Given the description of an element on the screen output the (x, y) to click on. 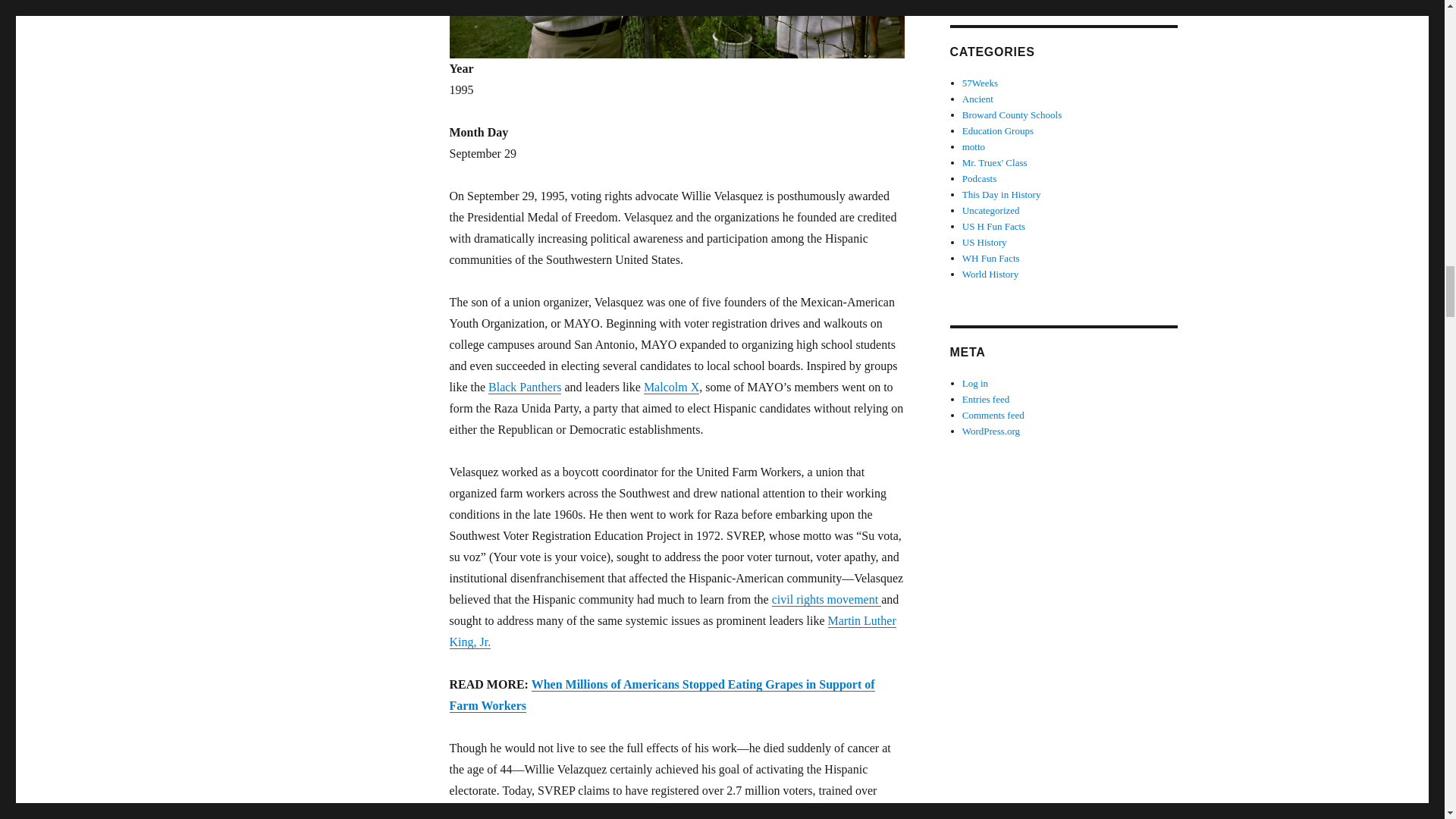
This Day in History (1001, 194)
